Given the description of an element on the screen output the (x, y) to click on. 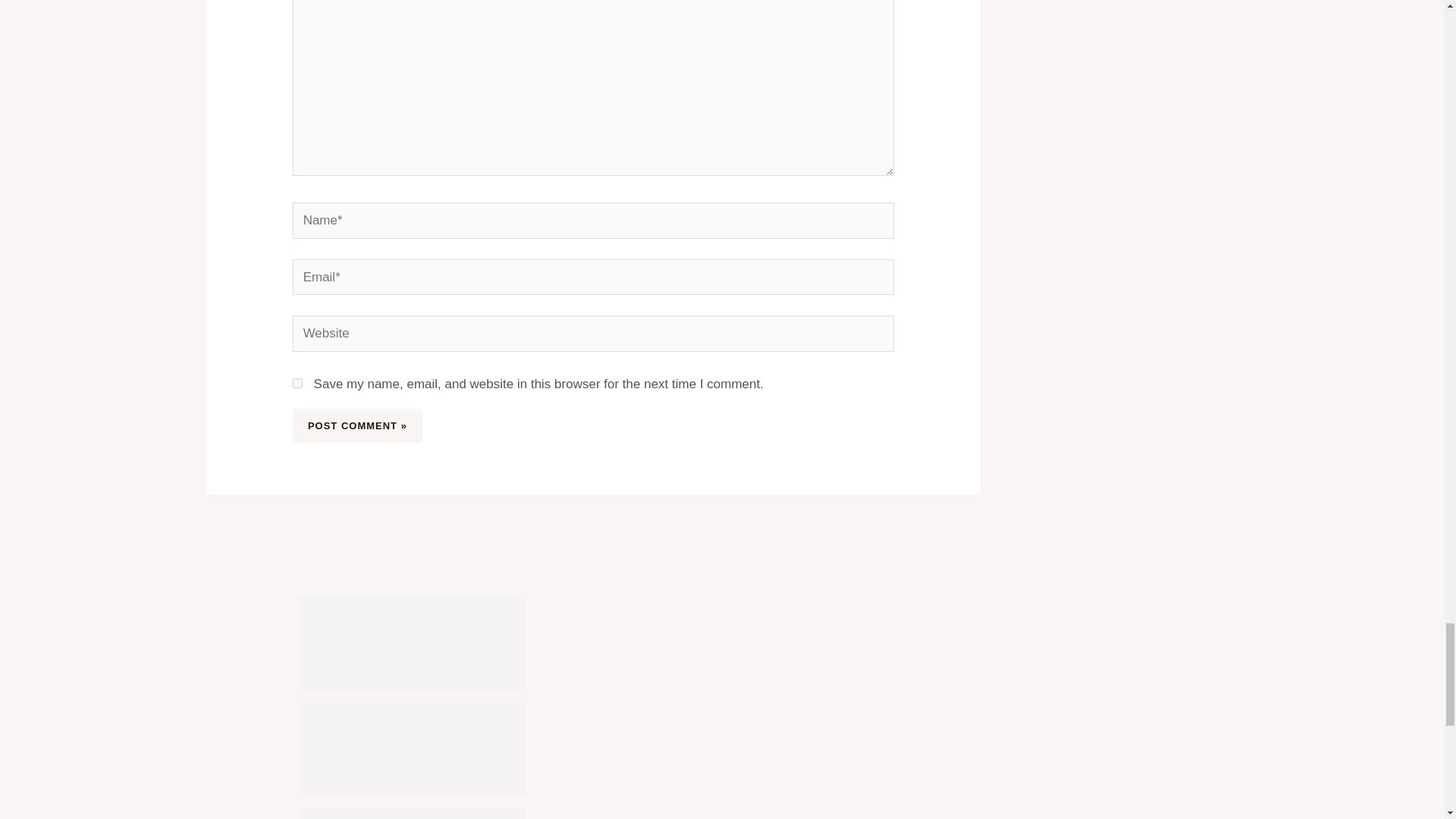
yes (297, 383)
